Given the description of an element on the screen output the (x, y) to click on. 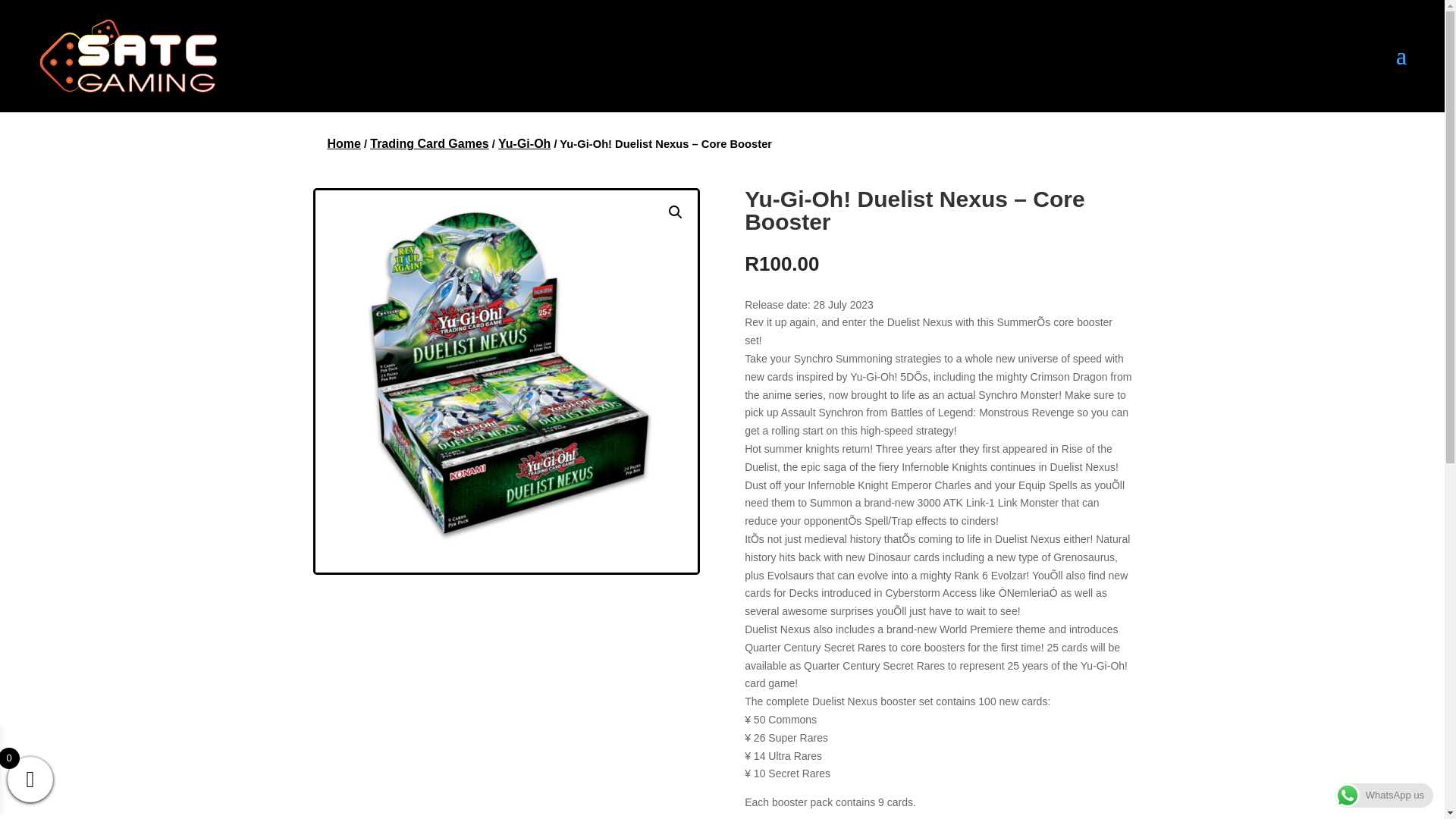
Trading Card Games (429, 143)
Yu-Gi-Oh (523, 143)
Home (344, 143)
